Given the description of an element on the screen output the (x, y) to click on. 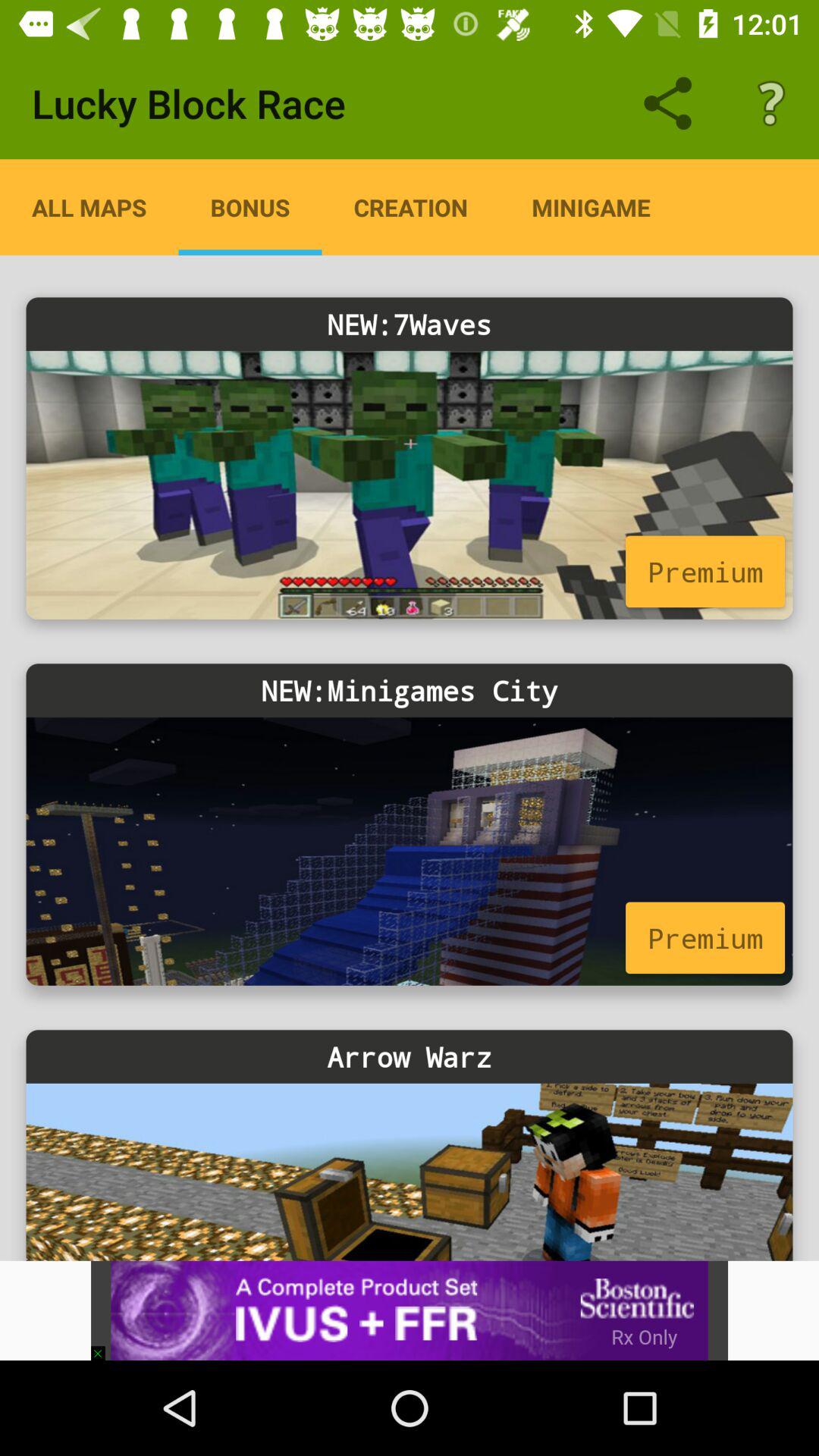
choose the item next to the all maps icon (249, 207)
